Given the description of an element on the screen output the (x, y) to click on. 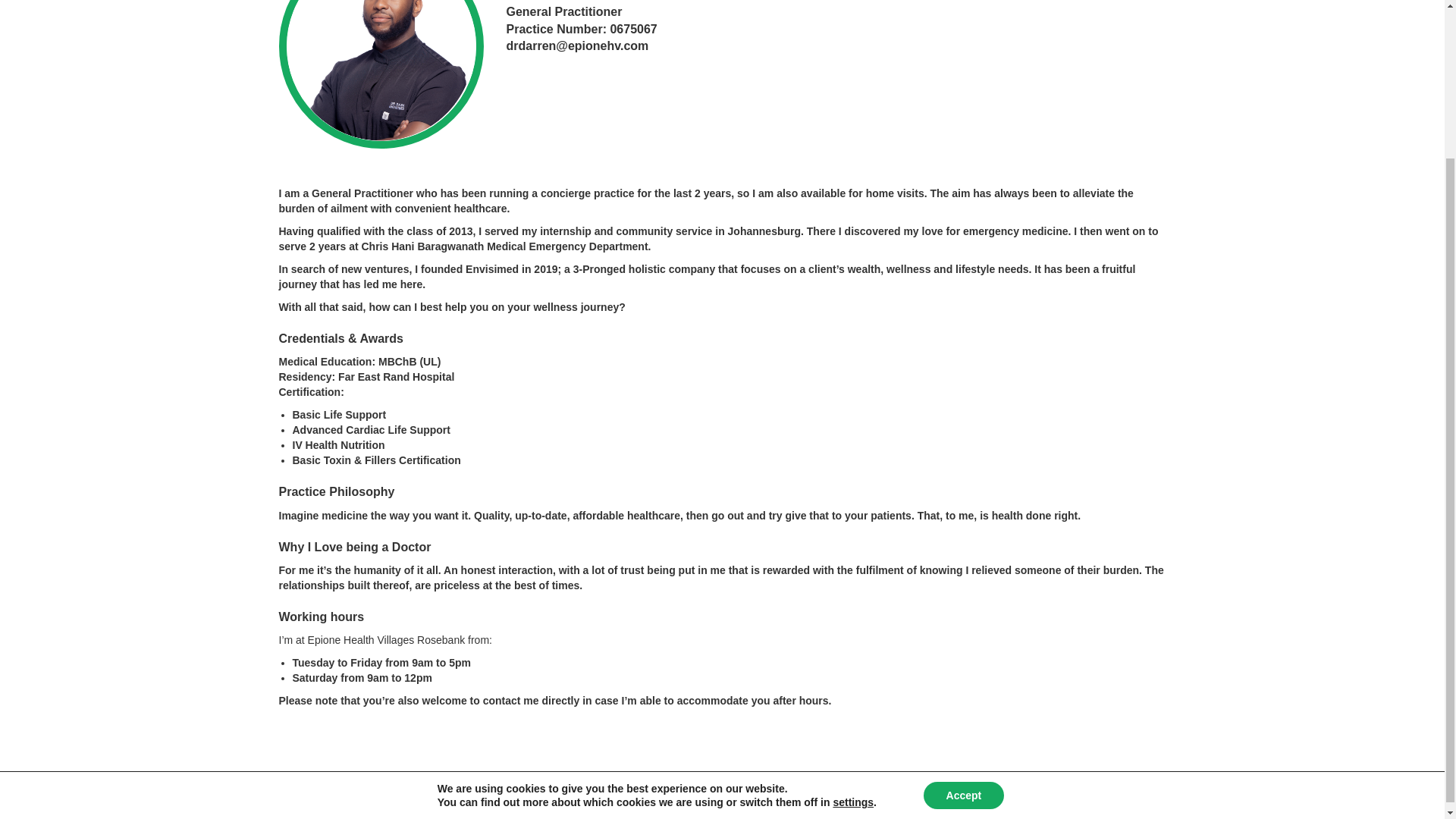
Sitemap (1072, 799)
settings (852, 613)
Accept (963, 606)
Privacy Policy (1011, 799)
